Given the description of an element on the screen output the (x, y) to click on. 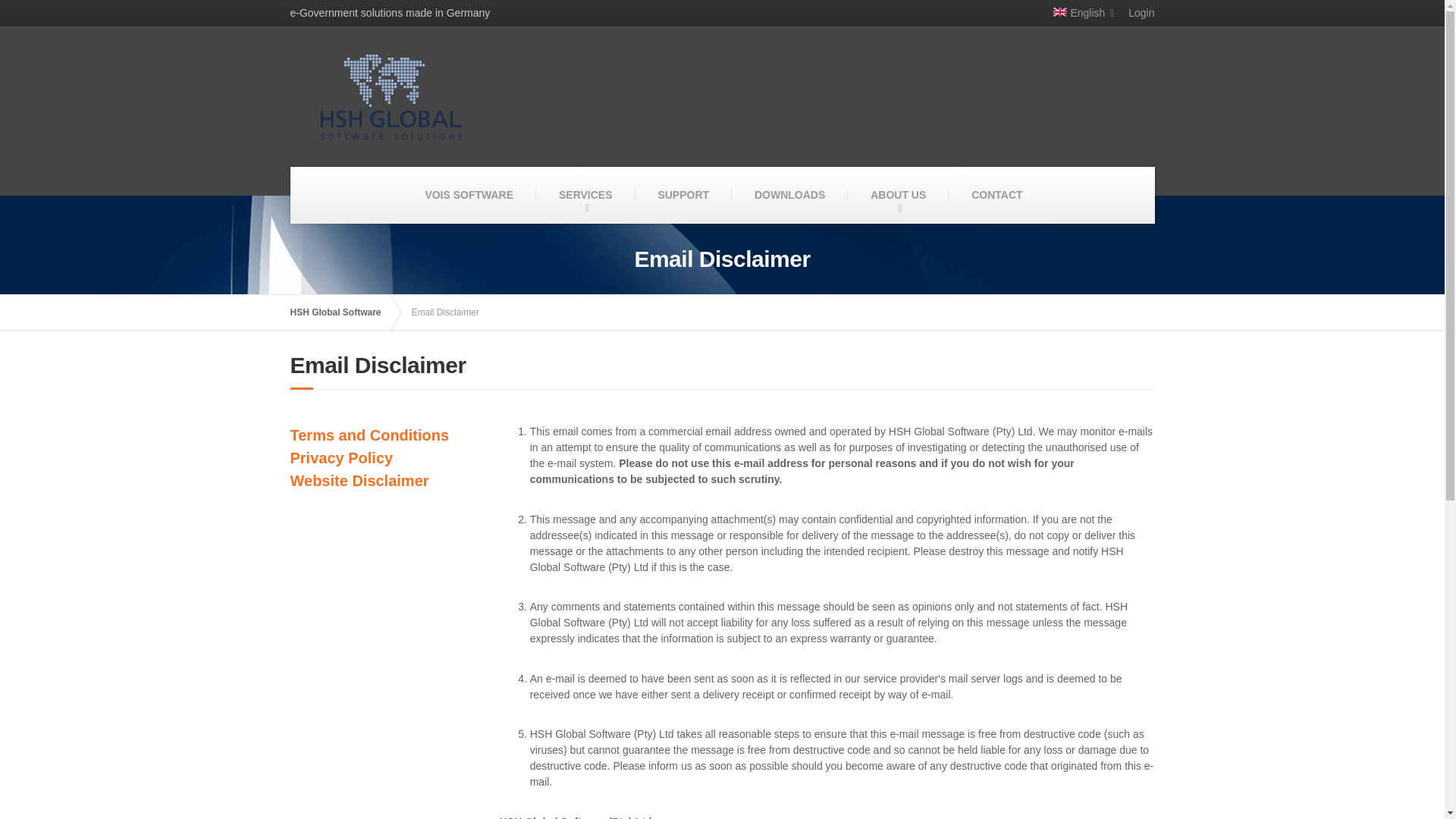
English (1059, 11)
Login (1135, 13)
DOWNLOADS (789, 195)
Privacy Policy (341, 457)
CONTACT (997, 195)
English (1077, 13)
HSH Global Software (342, 312)
English (1077, 13)
Go to HSH Global Software. (342, 312)
VOIS SOFTWARE (468, 195)
SERVICES (584, 195)
Website Disclaimer (358, 480)
ABOUT US (898, 195)
Terms and Conditions (368, 434)
SUPPORT (683, 195)
